Given the description of an element on the screen output the (x, y) to click on. 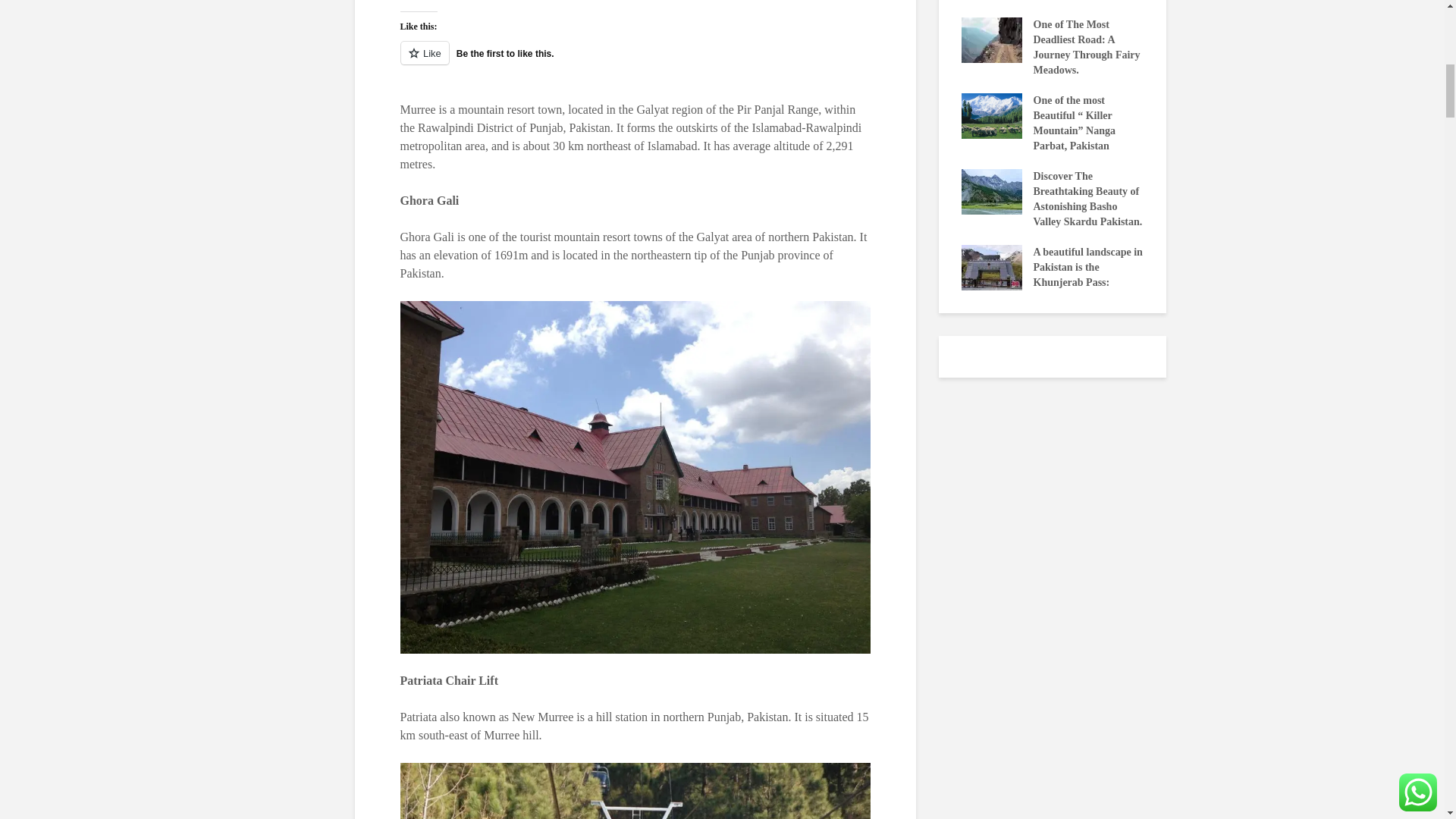
Like or Reblog (635, 61)
